Given the description of an element on the screen output the (x, y) to click on. 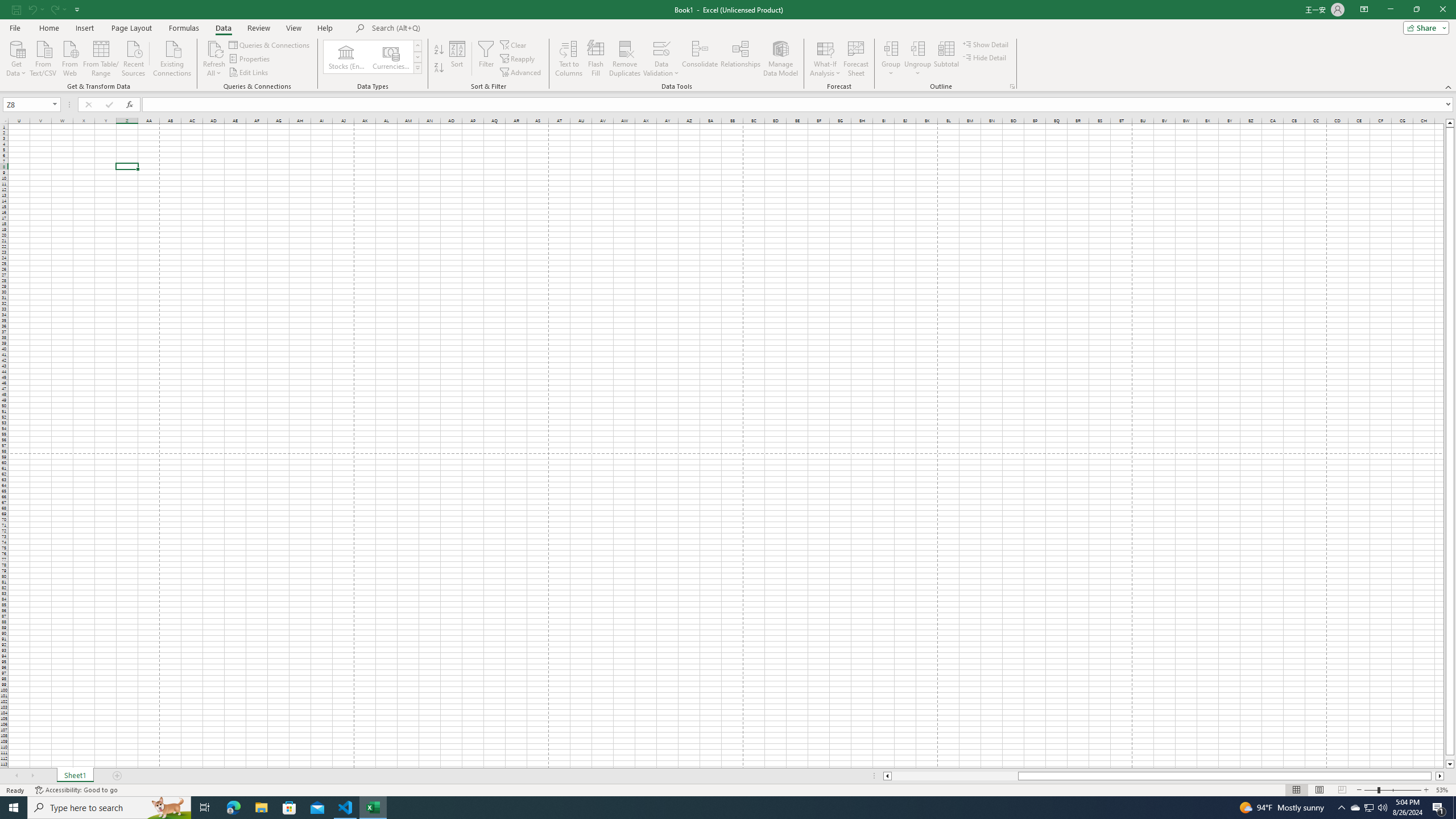
Hide Detail (985, 56)
Edit Links (249, 72)
Manage Data Model (780, 58)
Get Data (16, 57)
Filter (485, 58)
Group and Outline Settings (1011, 85)
